Given the description of an element on the screen output the (x, y) to click on. 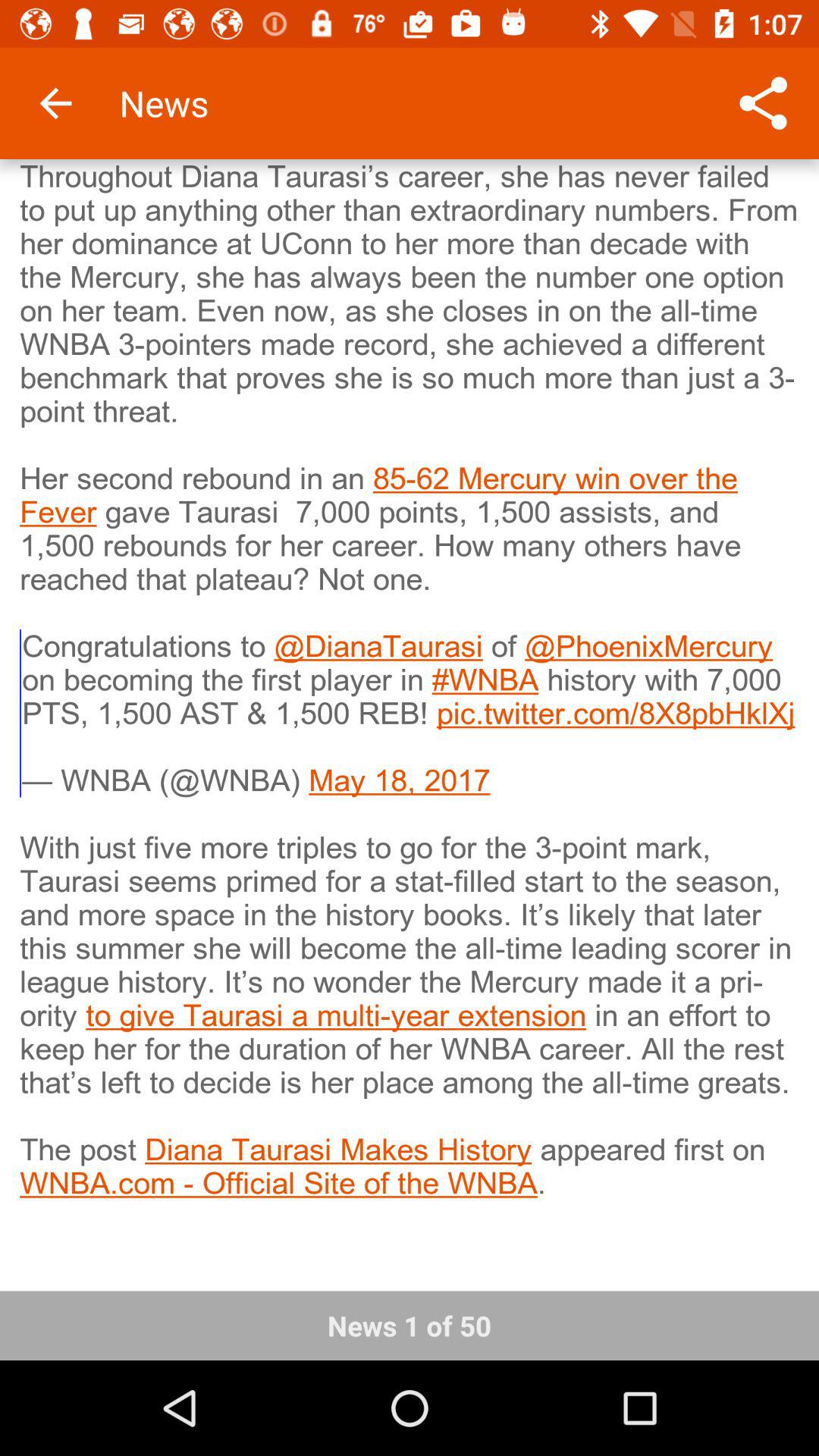
launch the throughout diana taurasi icon (409, 715)
